Given the description of an element on the screen output the (x, y) to click on. 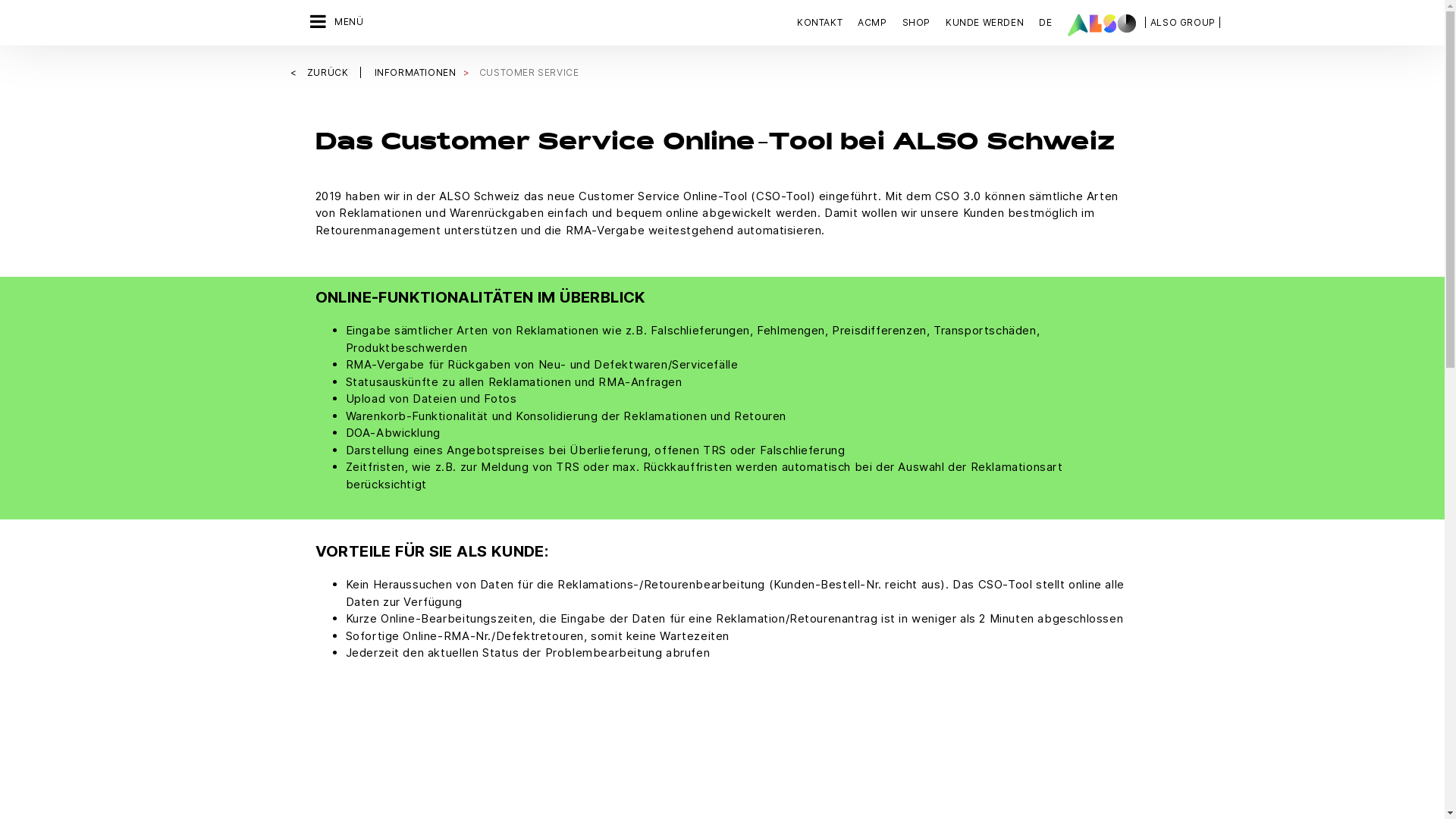
KUNDE WERDEN Element type: text (984, 22)
| ALSO GROUP | Element type: text (1182, 22)
SHOP Element type: text (916, 22)
ALSO Schweiz AG Element type: hover (1101, 24)
DE Element type: text (1045, 22)
INFORMATIONEN Element type: text (415, 72)
ACMP Element type: text (872, 22)
KONTAKT Element type: text (823, 22)
